Given the description of an element on the screen output the (x, y) to click on. 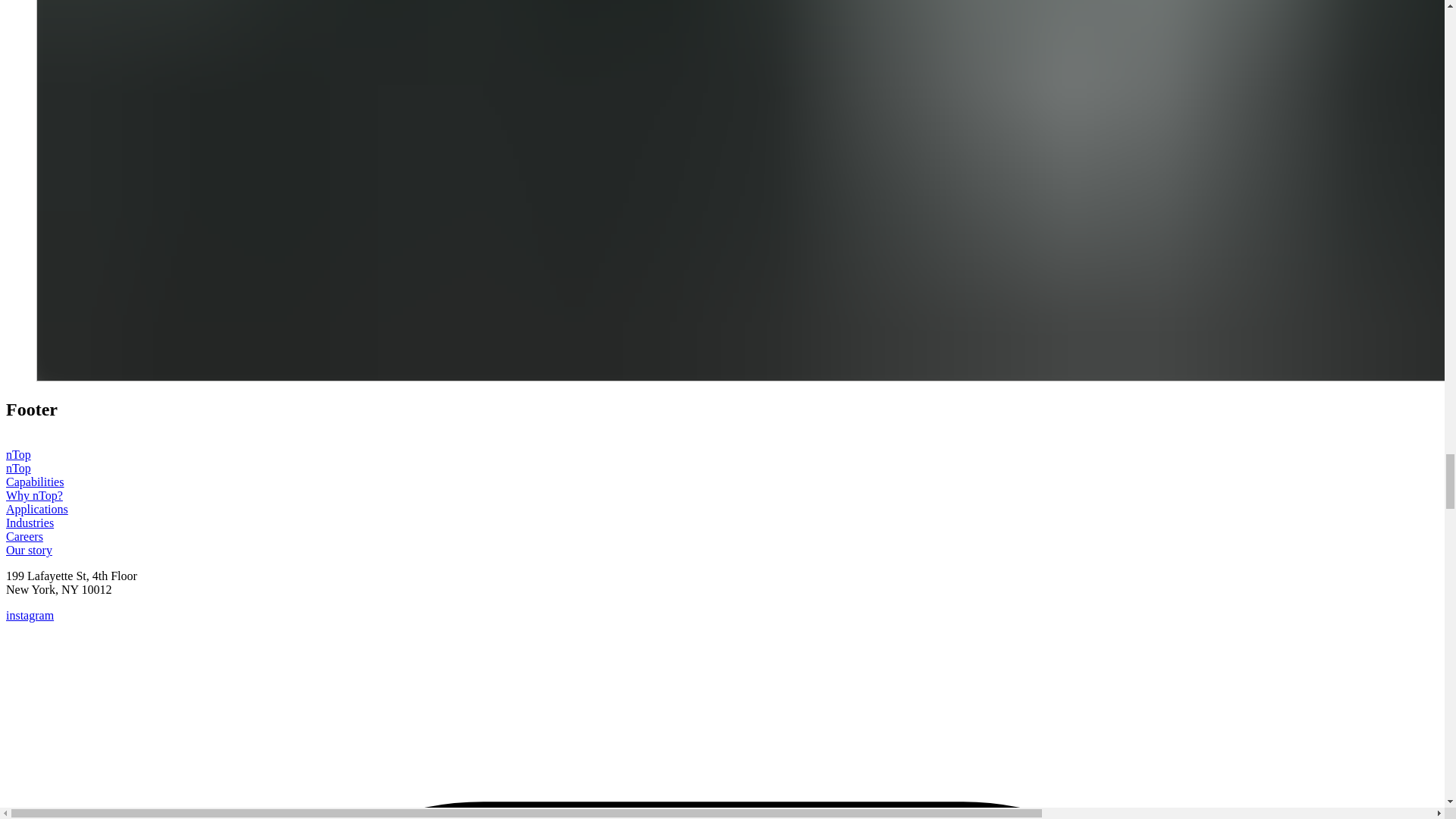
Industries (29, 522)
Why nTop? (33, 495)
Careers (24, 535)
nTop (59, 454)
Capabilities (34, 481)
nTop (17, 468)
Our story (28, 549)
Applications (36, 508)
